Given the description of an element on the screen output the (x, y) to click on. 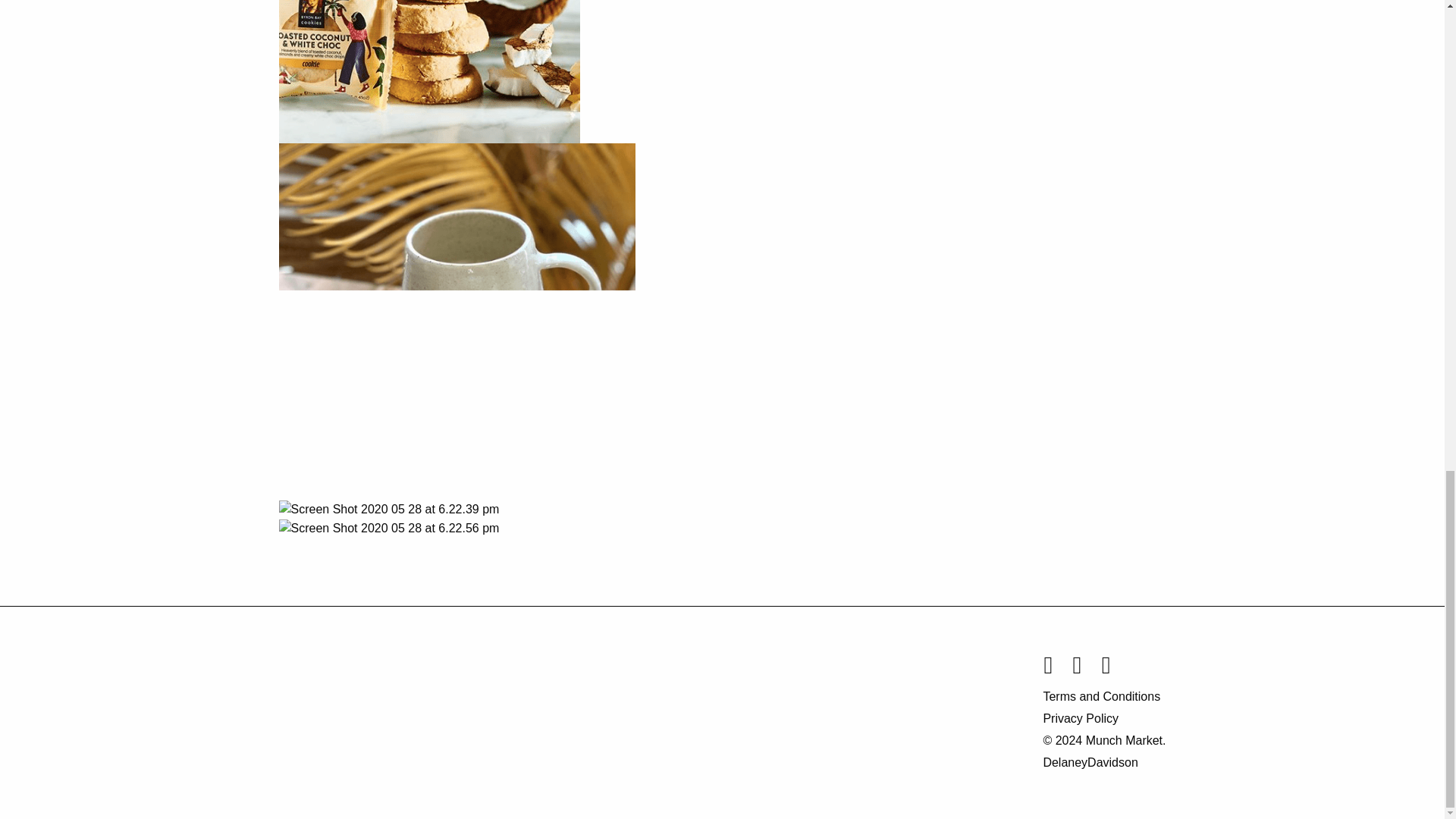
DelaneyDavidson (1089, 762)
Terms and Conditions (1104, 696)
Privacy Policy (1104, 718)
